Given the description of an element on the screen output the (x, y) to click on. 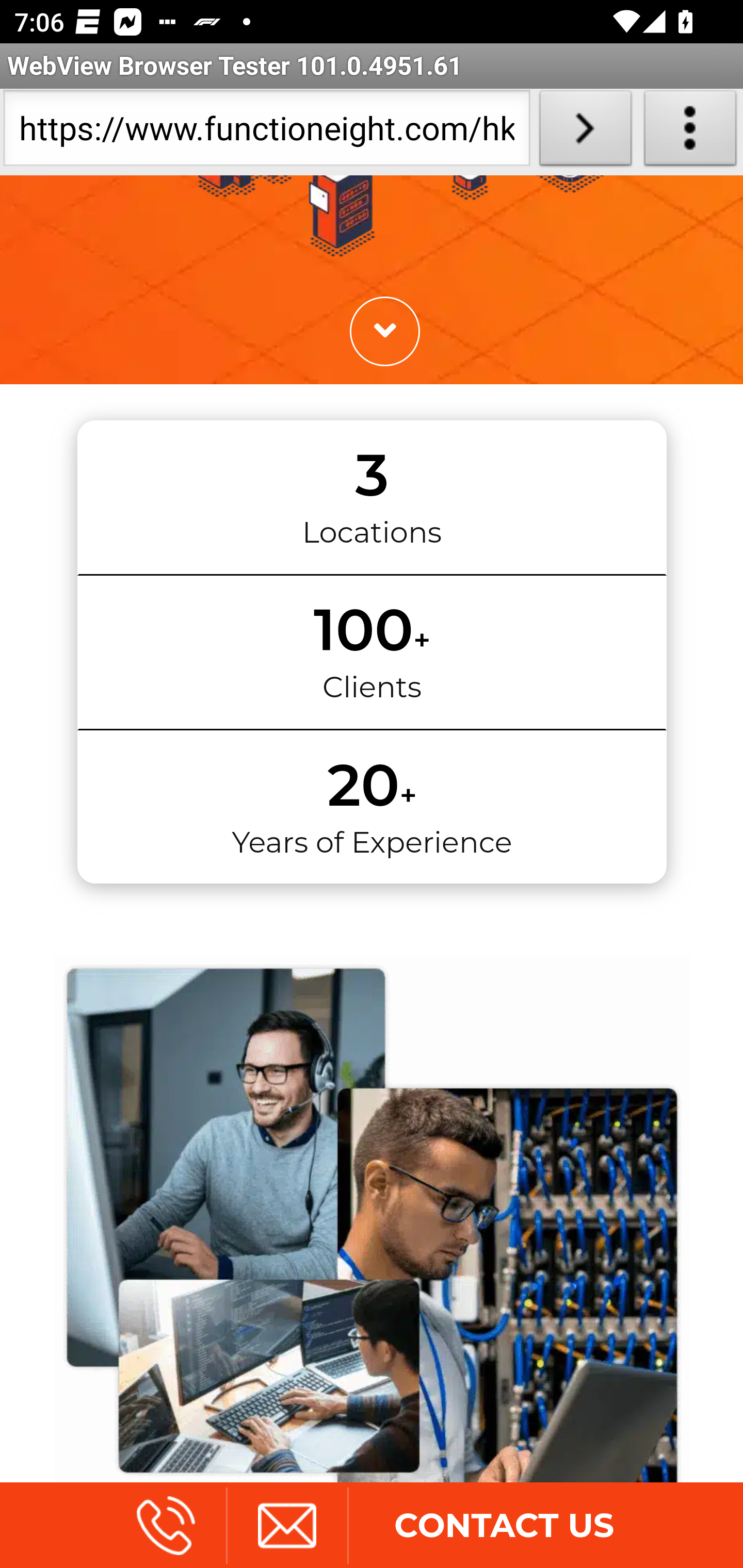
Load URL (585, 132)
About WebView (690, 132)
Link to #section-about-functioneight  (384, 332)
email (286, 1526)
CONTACT US (504, 1526)
